Given the description of an element on the screen output the (x, y) to click on. 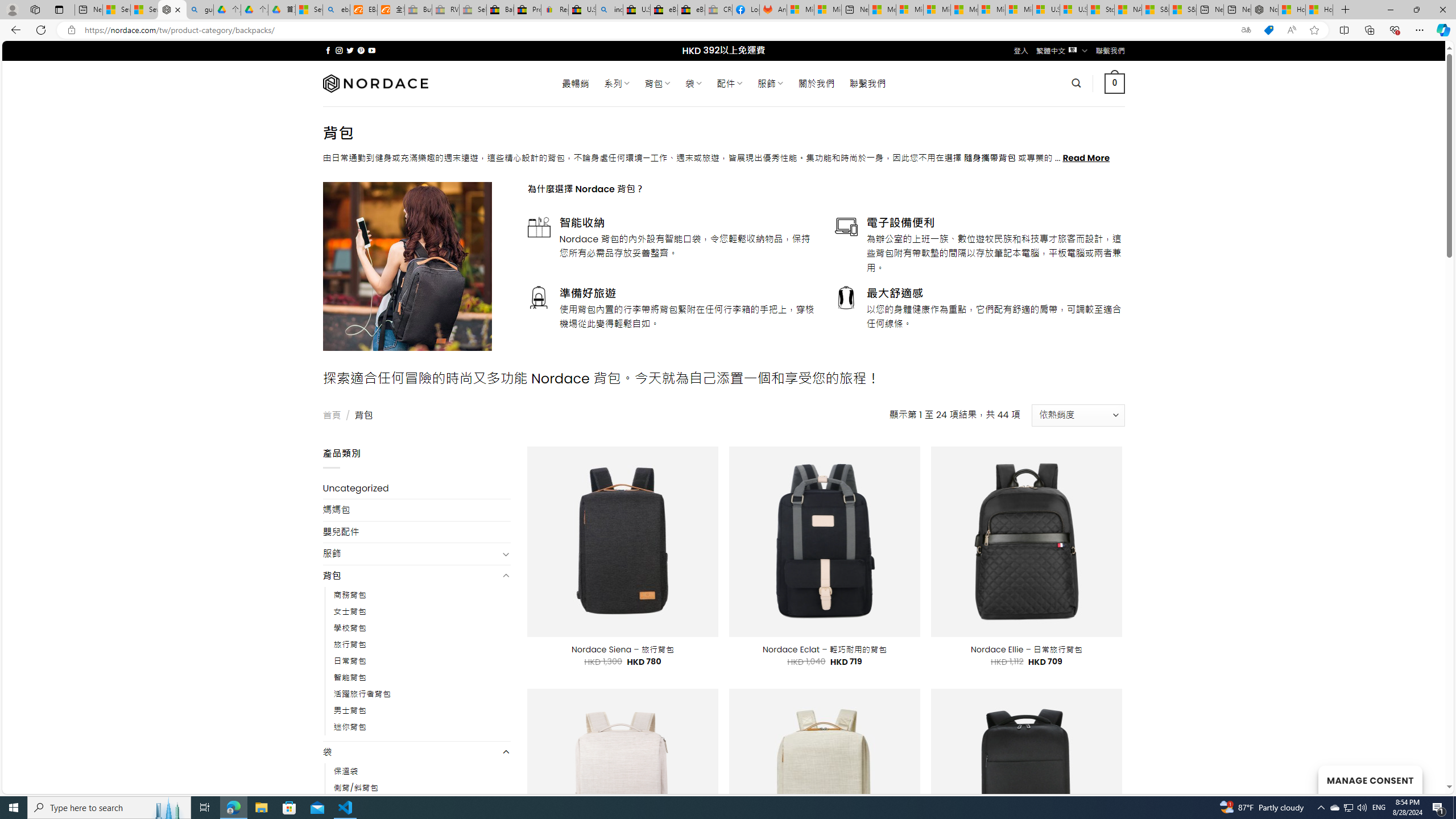
Follow on Twitter (349, 50)
App bar (728, 29)
Register: Create a personal eBay account (554, 9)
ebay - Search (336, 9)
